Given the description of an element on the screen output the (x, y) to click on. 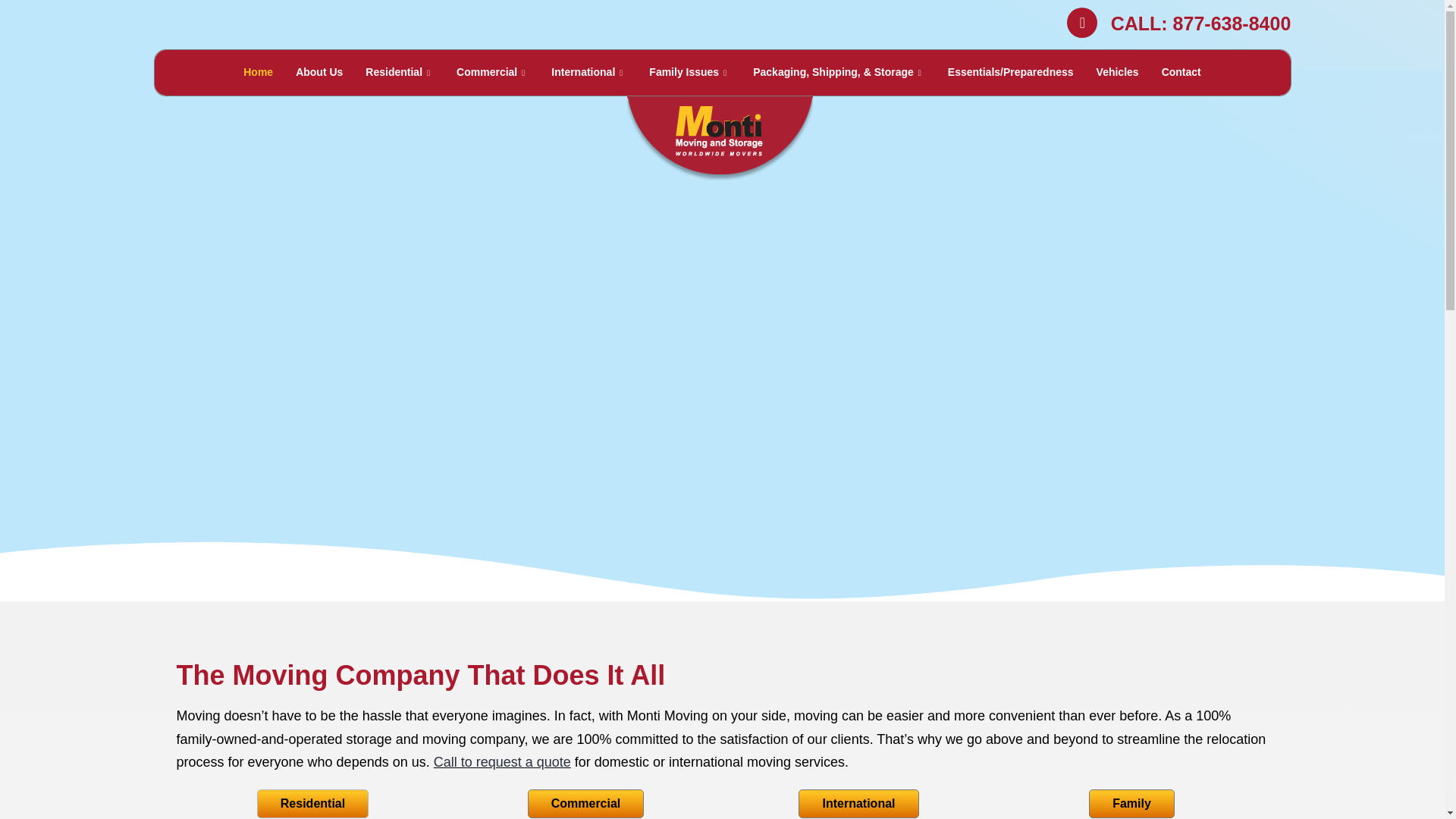
Family Issues (689, 72)
Vehicles (1117, 72)
Residential (399, 72)
International (588, 72)
CALL: 877-638-8400 (1200, 23)
Commercial (492, 72)
Contact (1181, 72)
About Us (318, 72)
Home (257, 72)
